Given the description of an element on the screen output the (x, y) to click on. 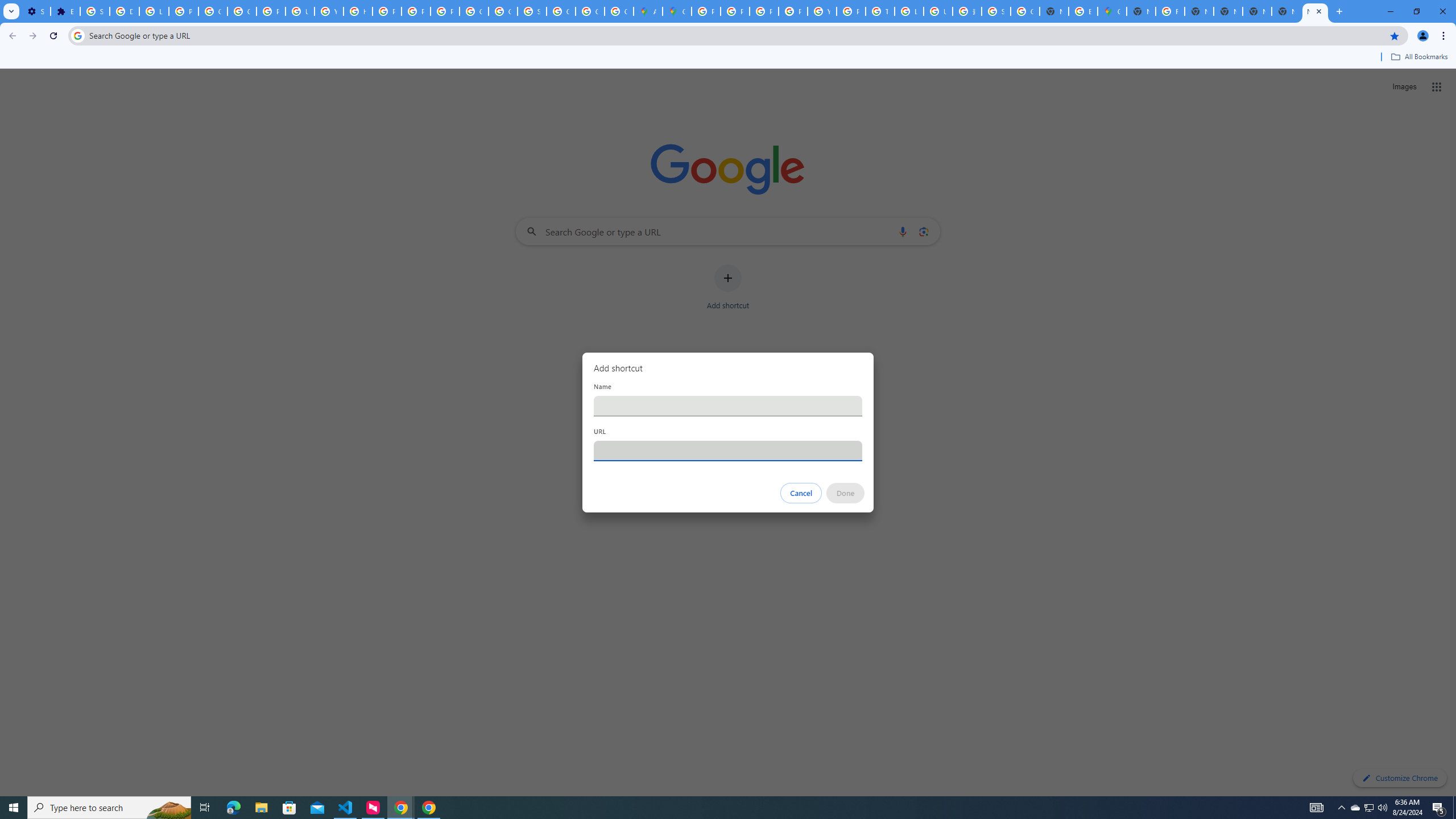
Tips & tricks for Chrome - Google Chrome Help (879, 11)
